Given the description of an element on the screen output the (x, y) to click on. 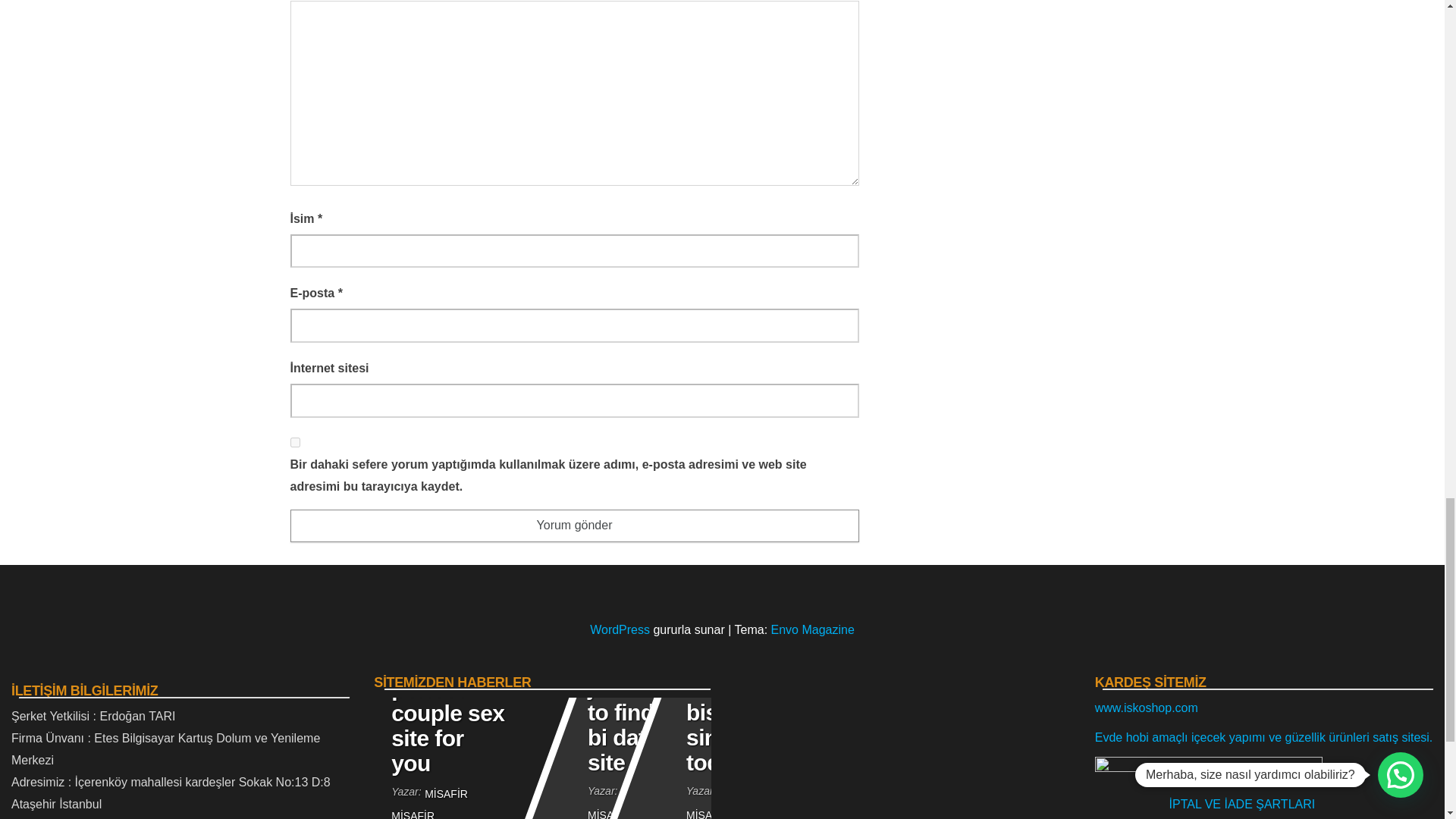
yes (294, 442)
WordPress (619, 629)
Envo Magazine (812, 629)
